Given the description of an element on the screen output the (x, y) to click on. 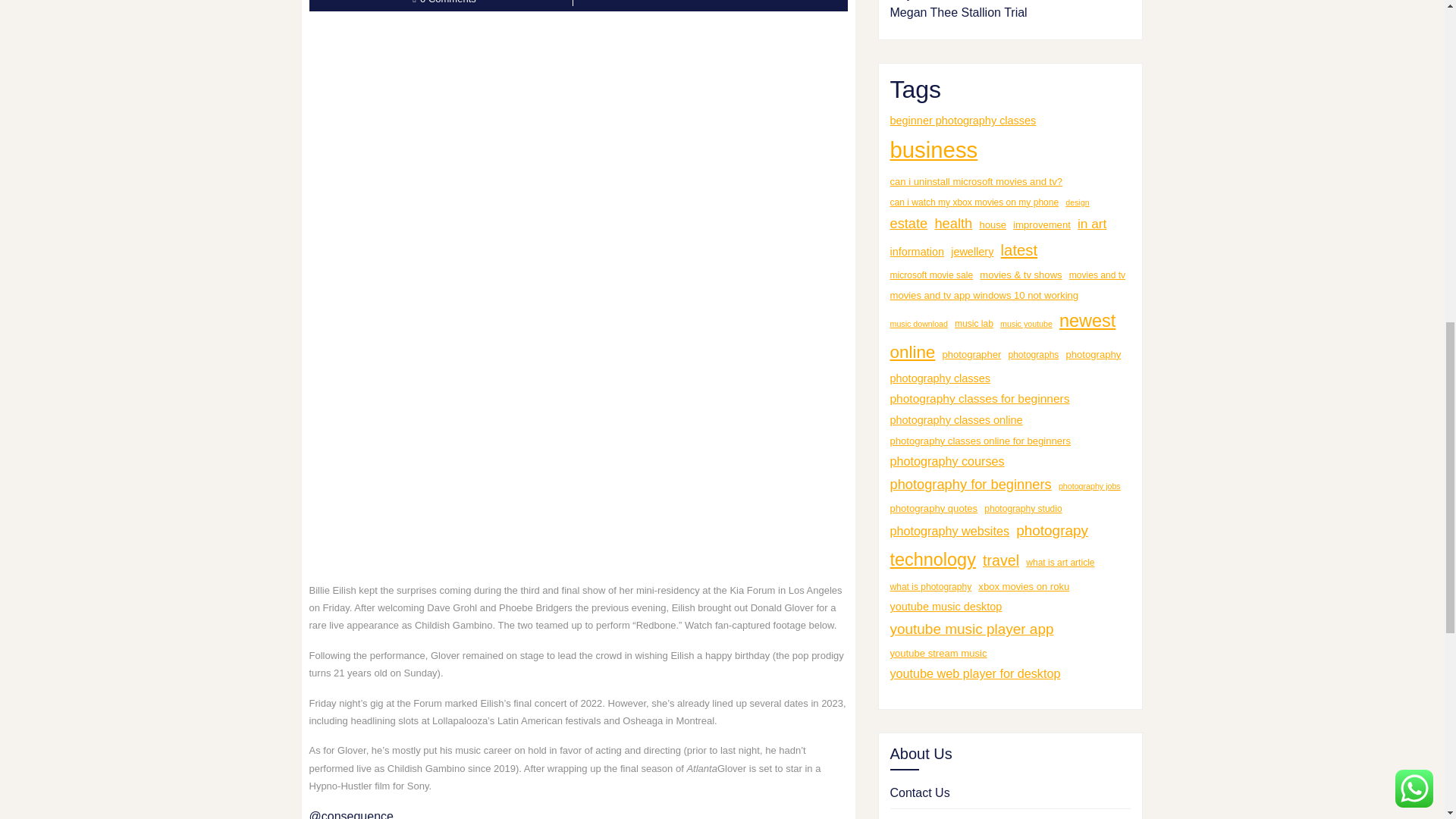
can i uninstall microsoft movies and tv? (975, 181)
in art (1091, 223)
estate (908, 223)
beginner photography classes (962, 120)
design (1077, 202)
information (916, 251)
can i watch my xbox movies on my phone (974, 202)
house (992, 225)
health (953, 223)
